Given the description of an element on the screen output the (x, y) to click on. 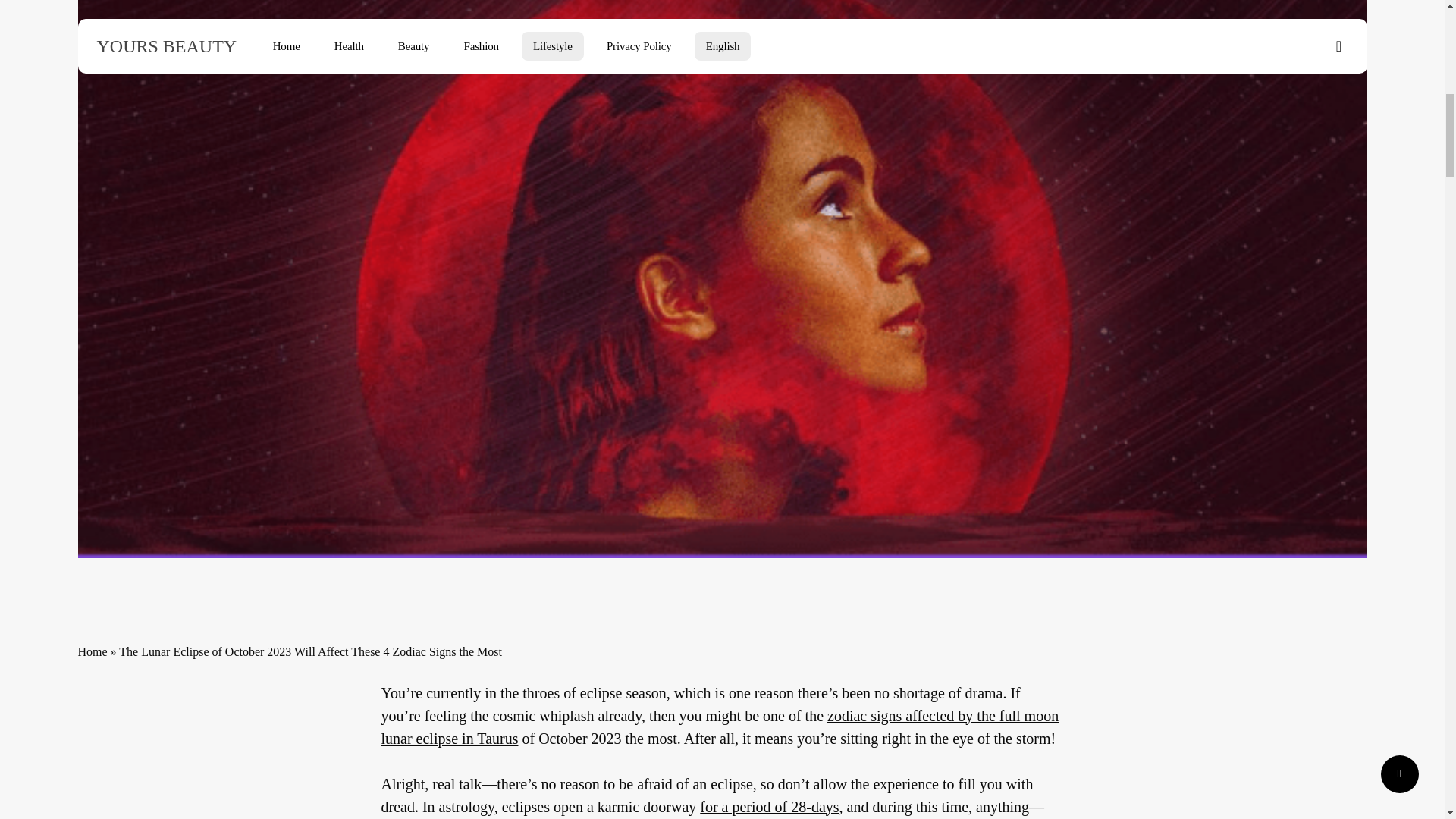
Home (91, 651)
for a period of 28-days (769, 806)
